Given the description of an element on the screen output the (x, y) to click on. 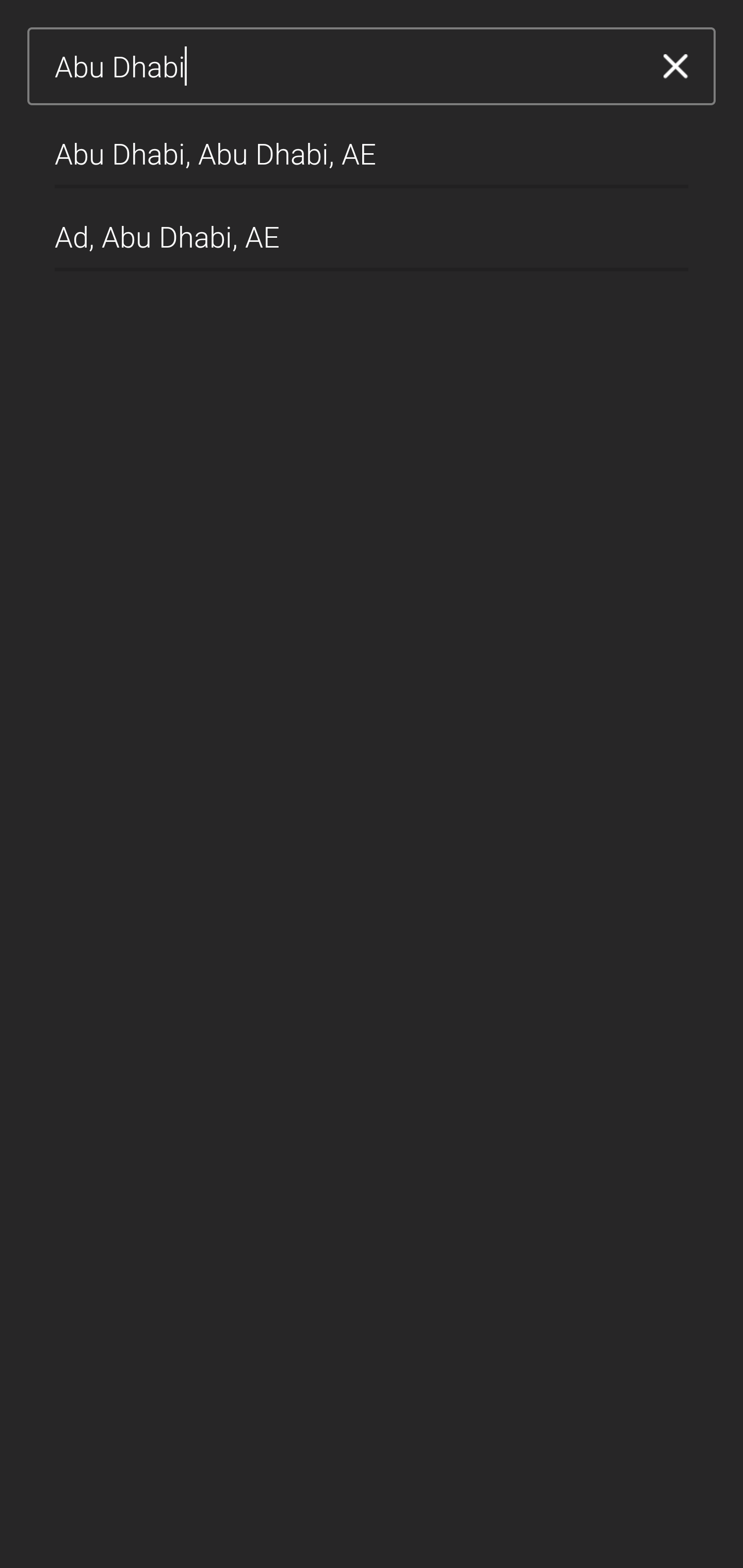
Abu Dhabi (345, 66)
Abu Dhabi, Abu Dhabi, AE (371, 146)
Ad, Abu Dhabi, AE (371, 229)
